Given the description of an element on the screen output the (x, y) to click on. 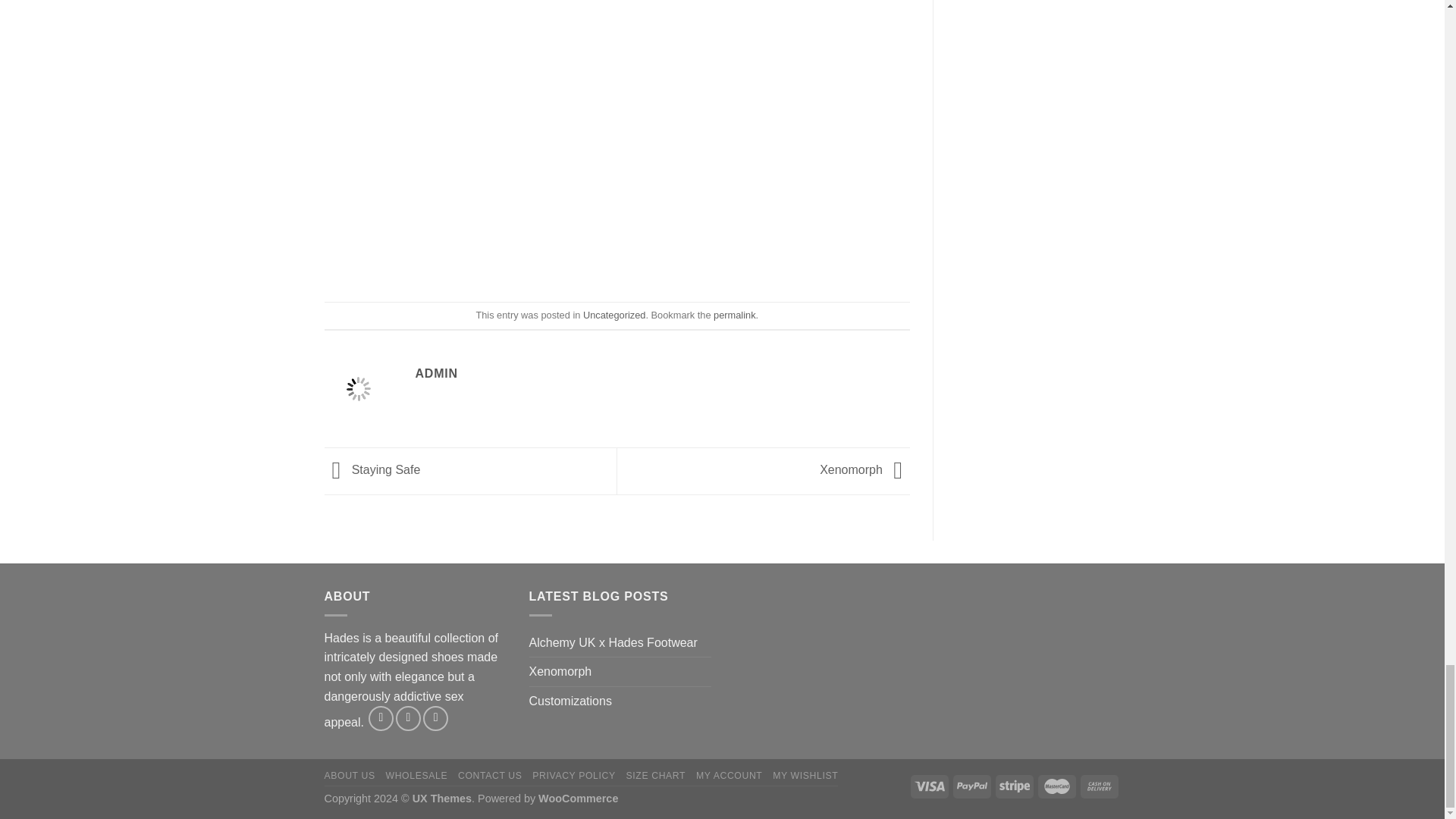
Uncategorized (614, 315)
permalink (734, 315)
Follow on Instagram (408, 718)
Follow on Twitter (435, 718)
Permalink to Customizations (734, 315)
Follow on Facebook (380, 718)
Staying Safe (372, 470)
